Given the description of an element on the screen output the (x, y) to click on. 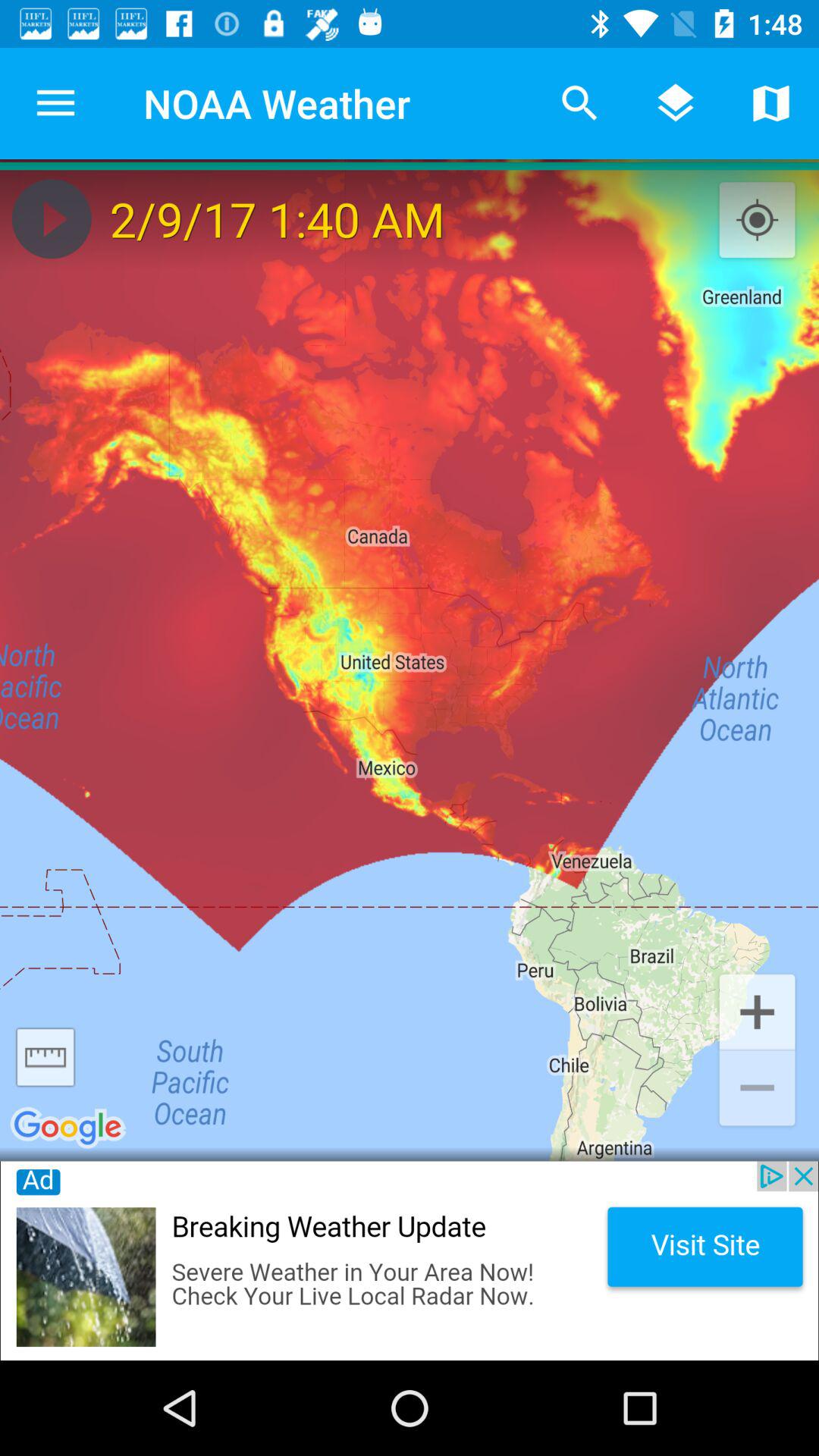
play (51, 218)
